Given the description of an element on the screen output the (x, y) to click on. 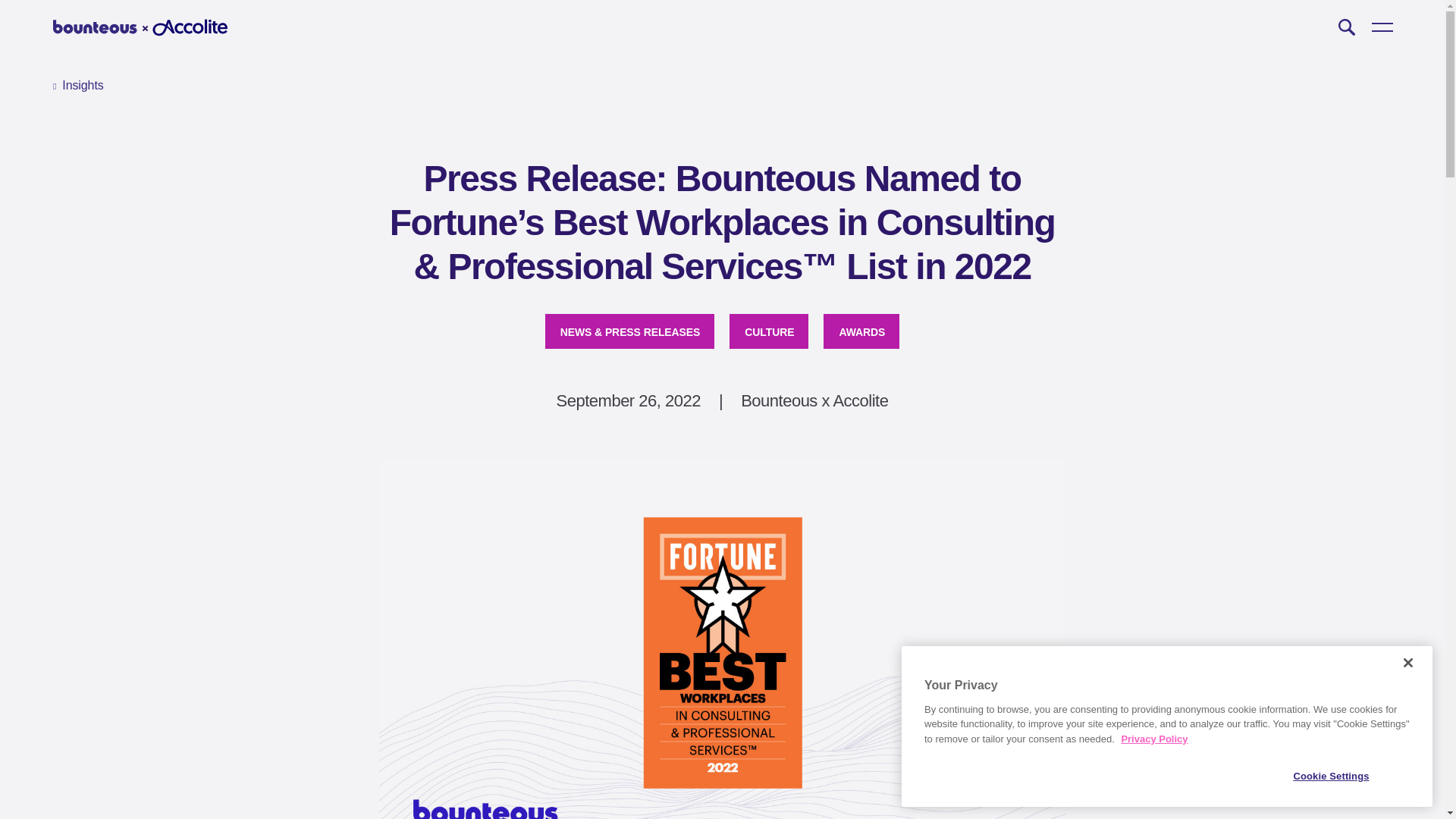
AWARDS (861, 330)
Insights (77, 86)
CULTURE (768, 330)
